Given the description of an element on the screen output the (x, y) to click on. 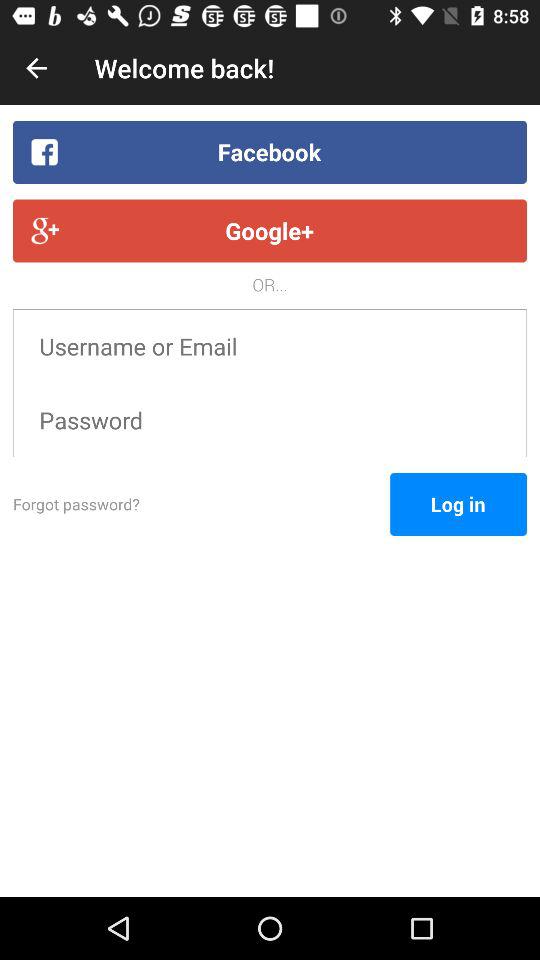
launch the icon to the left of the welcome back! item (36, 68)
